Given the description of an element on the screen output the (x, y) to click on. 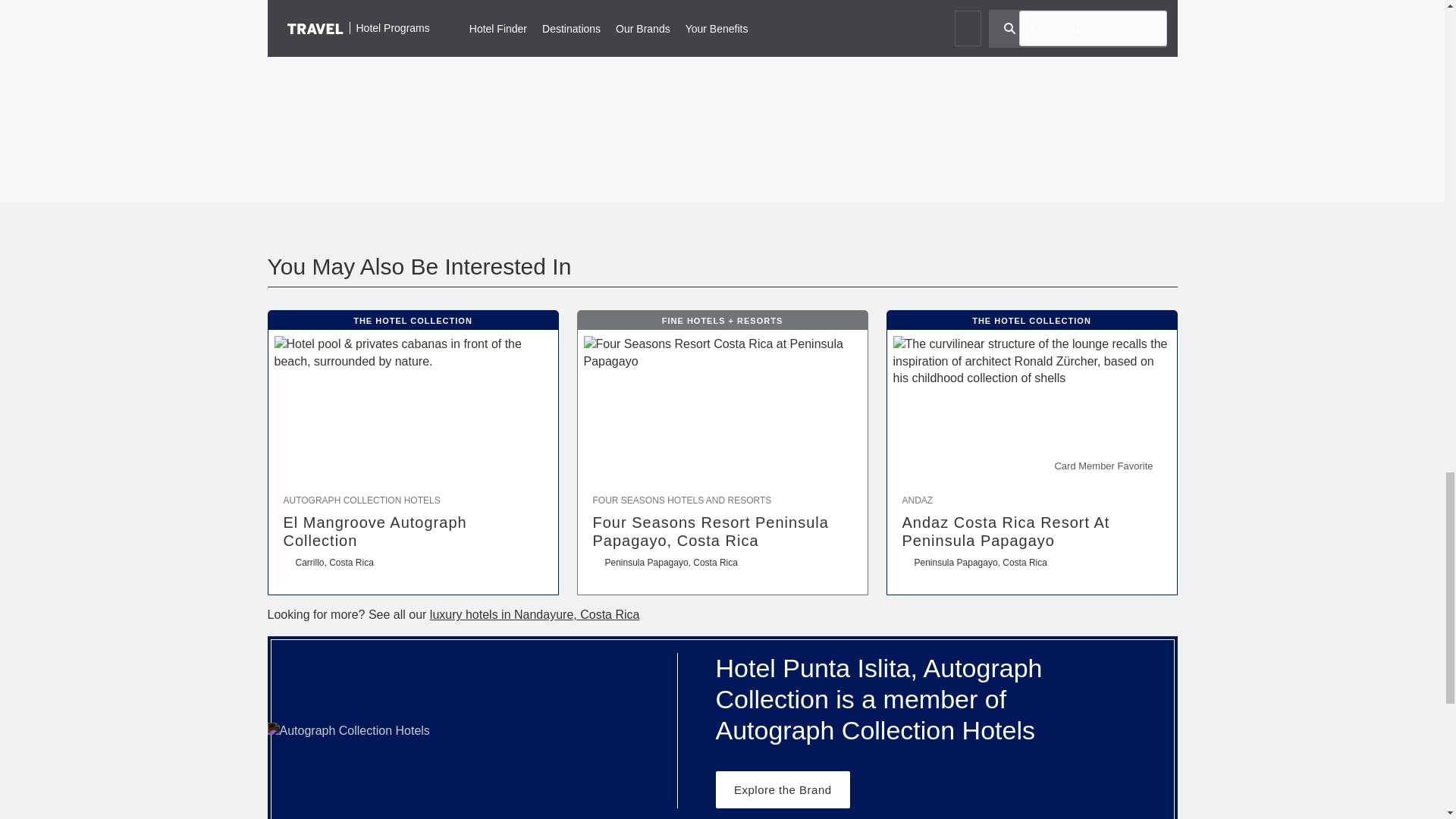
Four Seasons Resort Peninsula Papagayo, Costa Rica (721, 531)
luxury hotels in Nandayure, Costa Rica (534, 614)
Explore the Brand (783, 789)
Andaz Costa Rica Resort At Peninsula Papagayo (1031, 531)
El Mangroove Autograph Collection (413, 531)
